Given the description of an element on the screen output the (x, y) to click on. 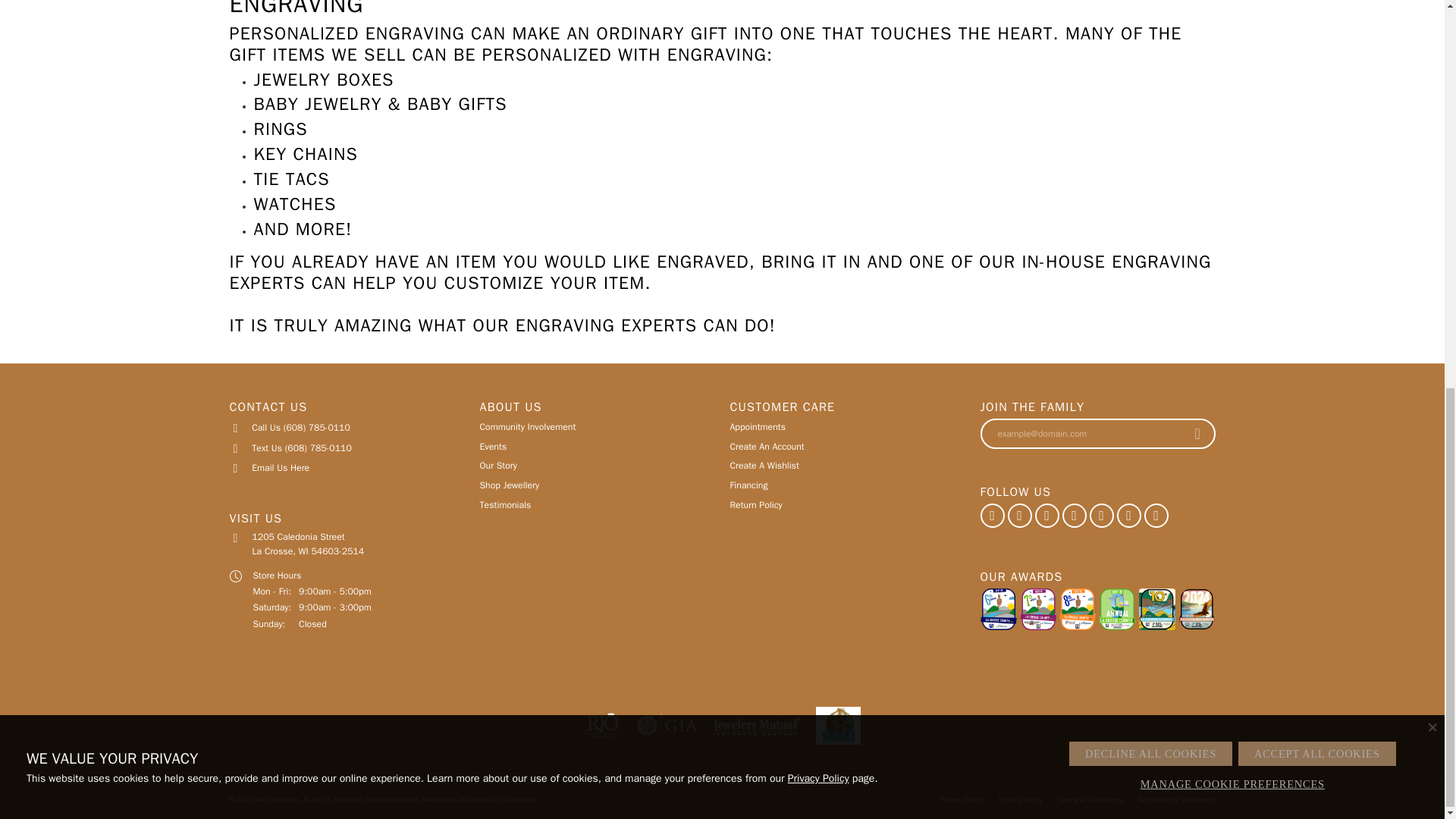
Follow us on facebook (991, 515)
Follow us on instagram (1018, 515)
Follow us on twitter (1128, 515)
Follow us on TikTok (1073, 515)
Follow us on YouTube (1154, 515)
Enter your email address to subscribe (1081, 433)
Follow us on pinterest (1045, 515)
Follow us on SnapChat (1101, 515)
